Given the description of an element on the screen output the (x, y) to click on. 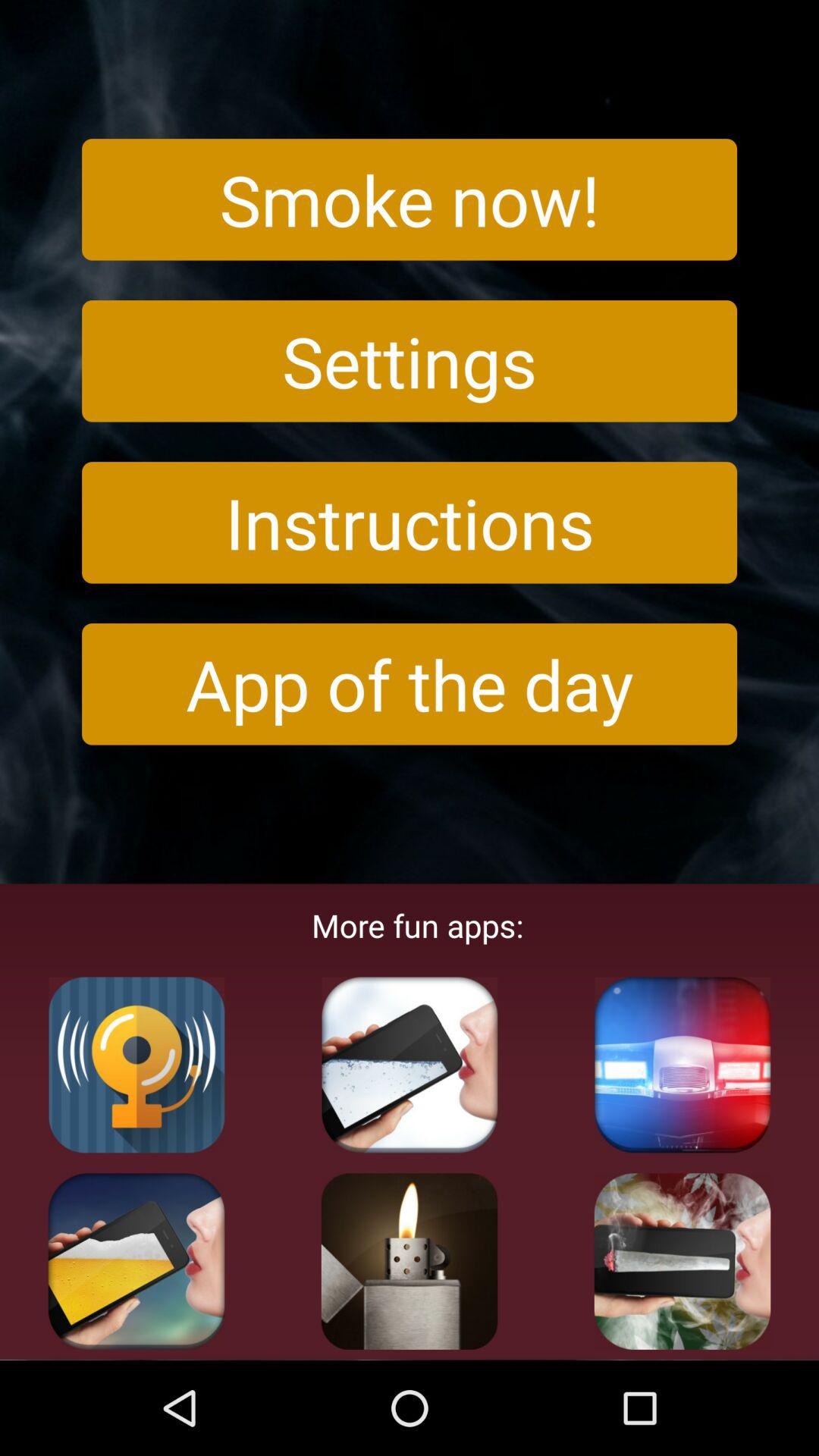
swtich autoplay option (682, 1064)
